Given the description of an element on the screen output the (x, y) to click on. 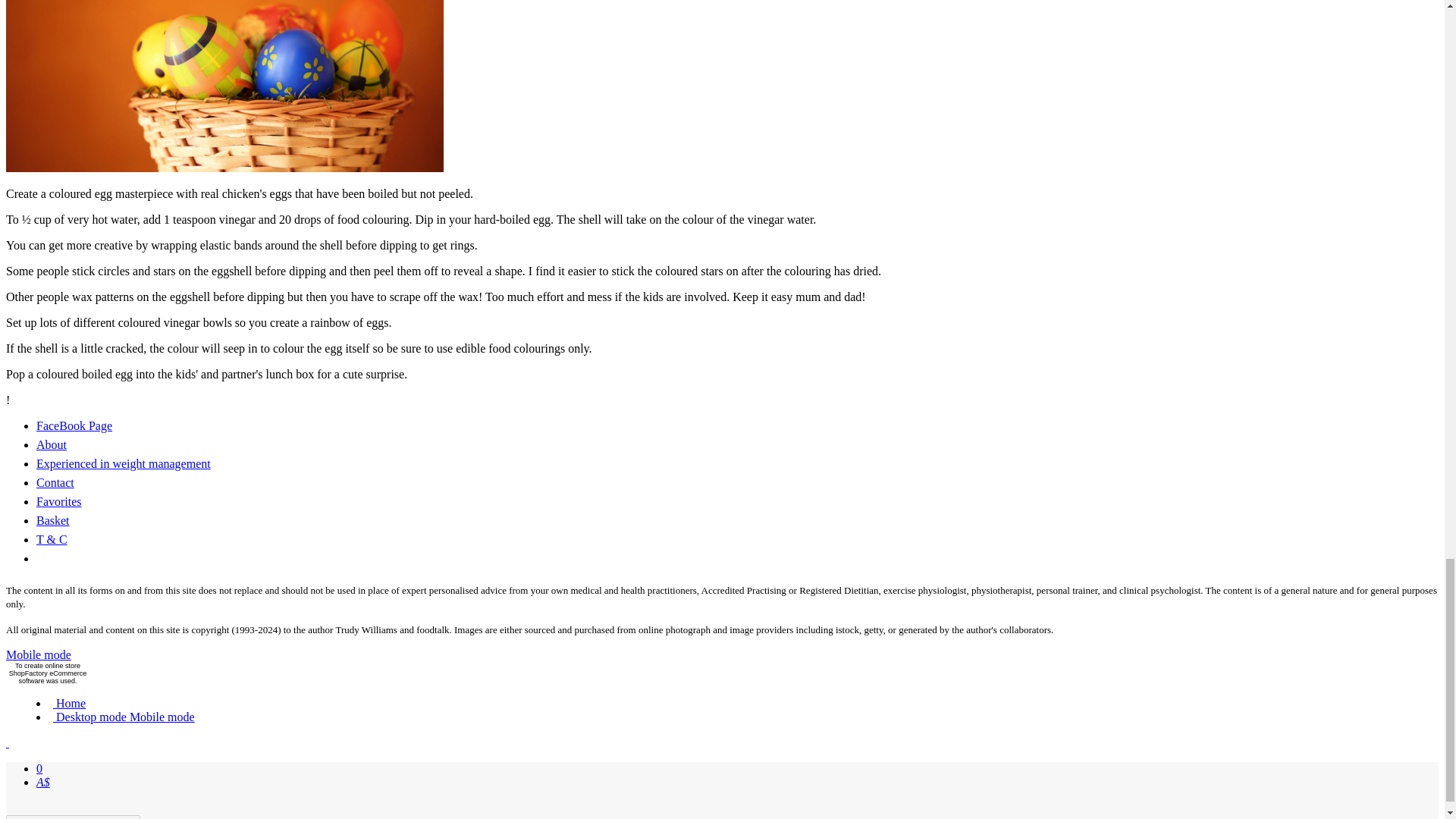
 Home (68, 703)
Basket (52, 520)
Mobile mode (38, 654)
colour real chicken eggs for Easter (224, 85)
Favorites (58, 501)
 Desktop mode (89, 716)
Big experience in weight management: loss and maintenance (123, 463)
Contact (55, 481)
Find out who is behind foodtalk (51, 444)
 Mobile mode (160, 716)
FaceBook Page (74, 425)
Experienced in weight management (123, 463)
About (51, 444)
